Given the description of an element on the screen output the (x, y) to click on. 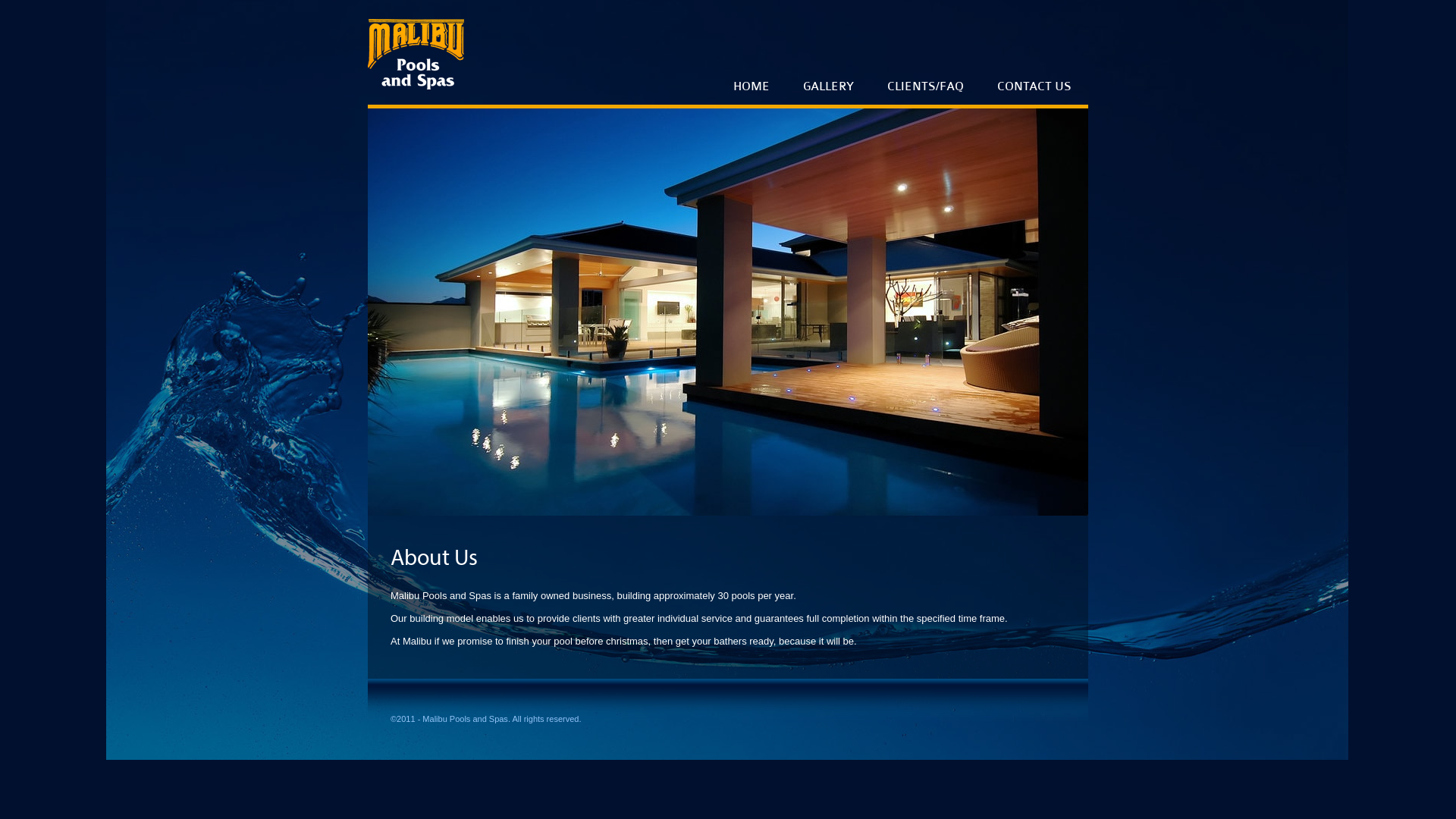
CLIENTS/FAQ Element type: text (925, 52)
CONTACT US Element type: text (1034, 52)
Malibu Pools and Spas Element type: text (465, 718)
HOME Element type: text (751, 52)
Roobix Element type: text (1037, 718)
GALLERY Element type: text (828, 52)
Malibu Pools and Spas - Element type: text (415, 44)
